Given the description of an element on the screen output the (x, y) to click on. 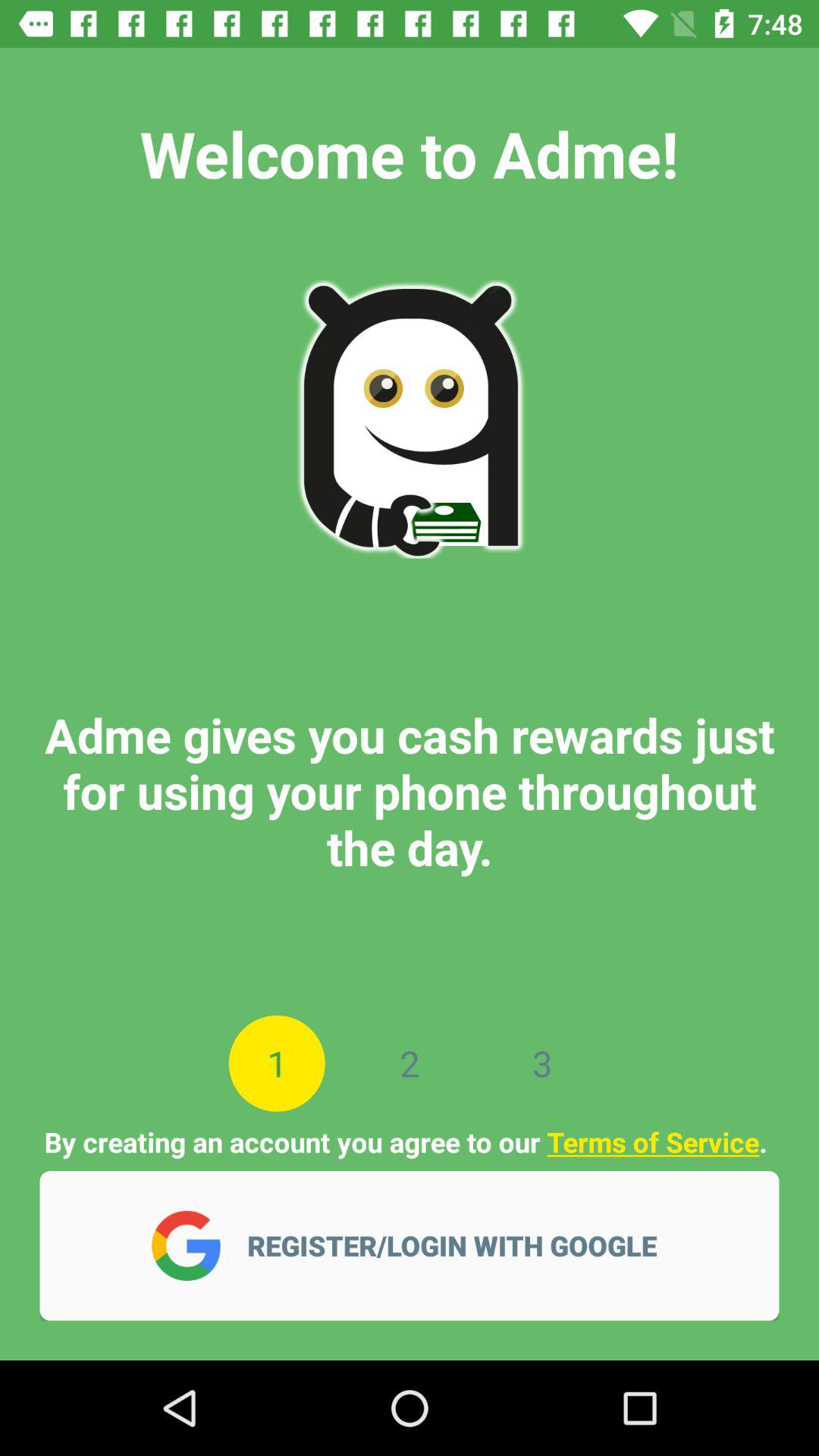
select app next to 1 app (409, 1063)
